Given the description of an element on the screen output the (x, y) to click on. 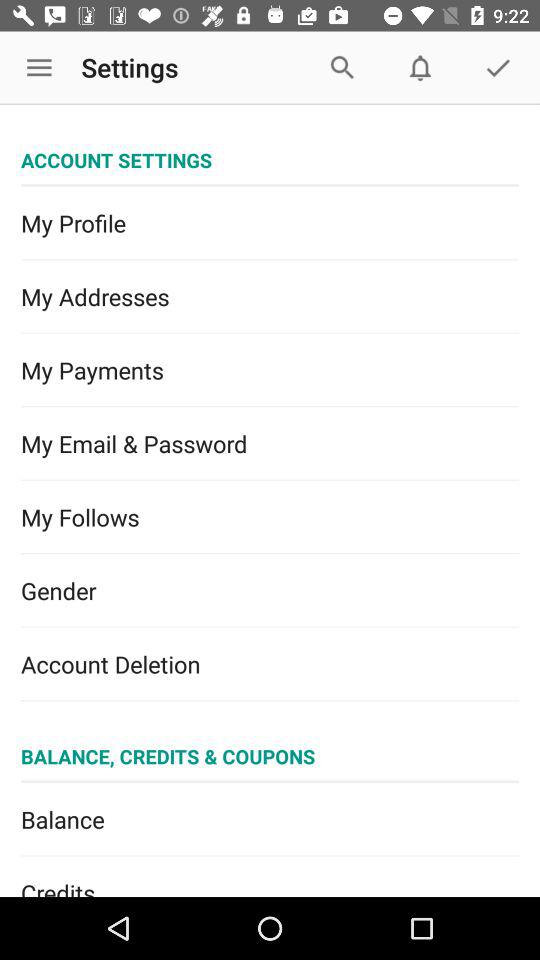
turn off the icon above the my follows (270, 443)
